Given the description of an element on the screen output the (x, y) to click on. 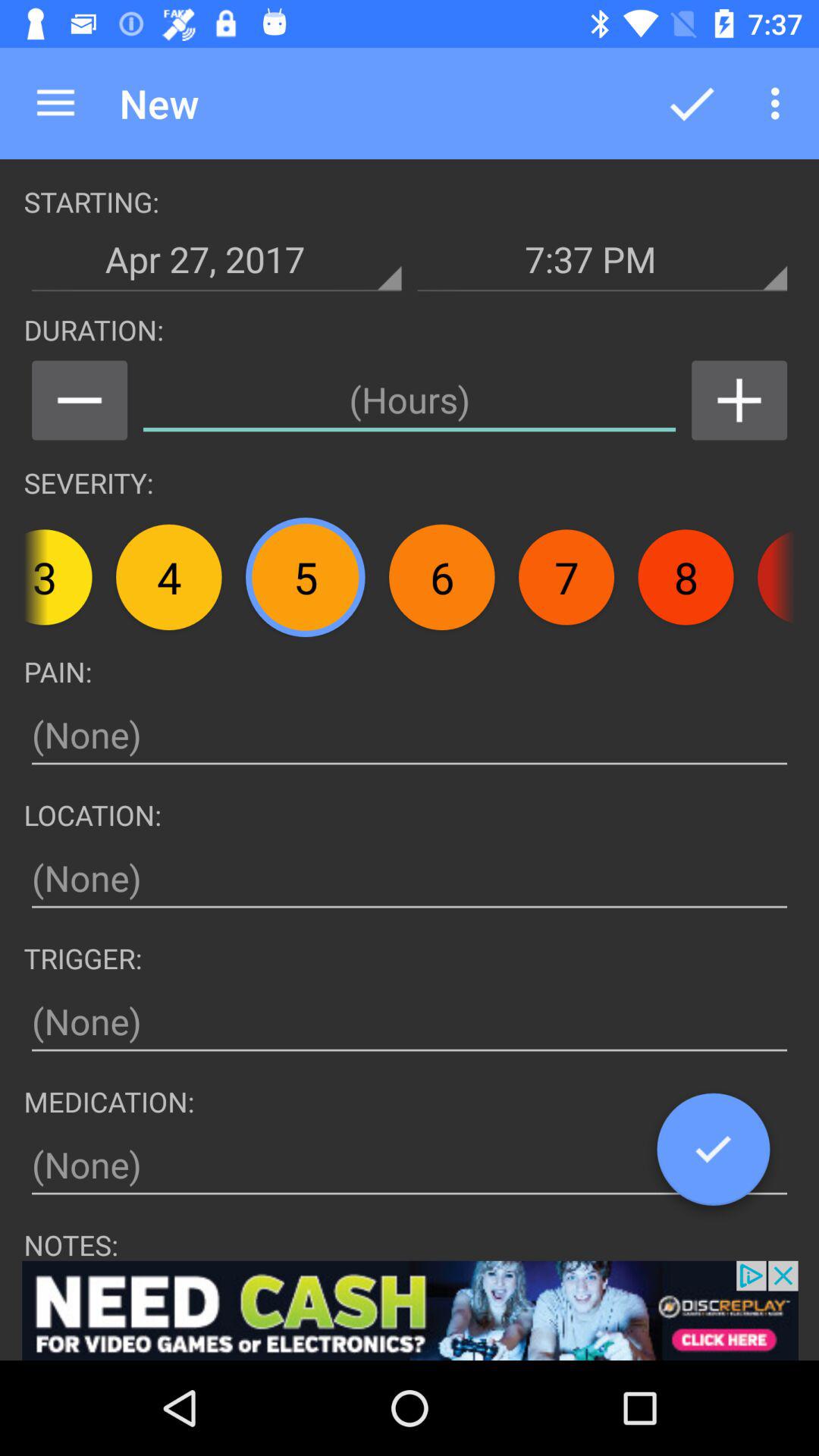
put medication (409, 1165)
